Given the description of an element on the screen output the (x, y) to click on. 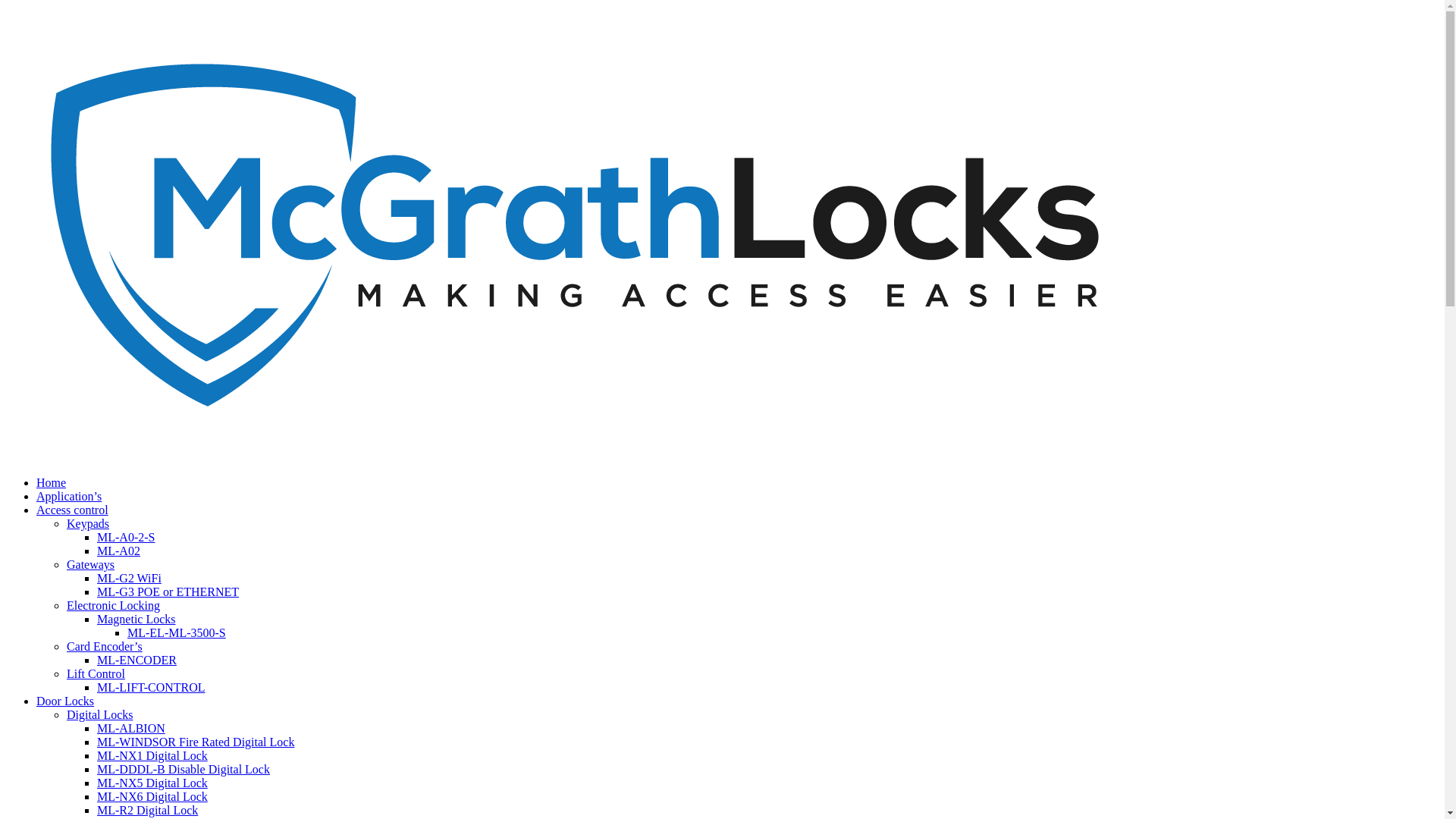
ML-LIFT-CONTROL Element type: text (151, 686)
Door Locks Element type: text (65, 700)
ML-DDDL-B Disable Digital Lock Element type: text (183, 768)
ML-NX1 Digital Lock Element type: text (152, 755)
Gateways Element type: text (90, 564)
ML-R2 Digital Lock Element type: text (147, 809)
ML-ENCODER Element type: text (136, 659)
ML-NX5 Digital Lock Element type: text (152, 782)
Home Element type: text (50, 482)
Digital Locks Element type: text (99, 714)
Magnetic Locks Element type: text (136, 618)
Electronic Locking Element type: text (113, 605)
ML-ALBION Element type: text (131, 727)
ML-A0-2-S Element type: text (125, 536)
Access control Element type: text (72, 509)
ML-WINDSOR Fire Rated Digital Lock Element type: text (195, 741)
ML-NX6 Digital Lock Element type: text (152, 796)
ML-G2 WiFi Element type: text (129, 577)
ML-EL-ML-3500-S Element type: text (176, 632)
ML-A02 Element type: text (118, 550)
Lift Control Element type: text (95, 673)
ML-G3 POE or ETHERNET Element type: text (167, 591)
Keypads Element type: text (87, 523)
